Given the description of an element on the screen output the (x, y) to click on. 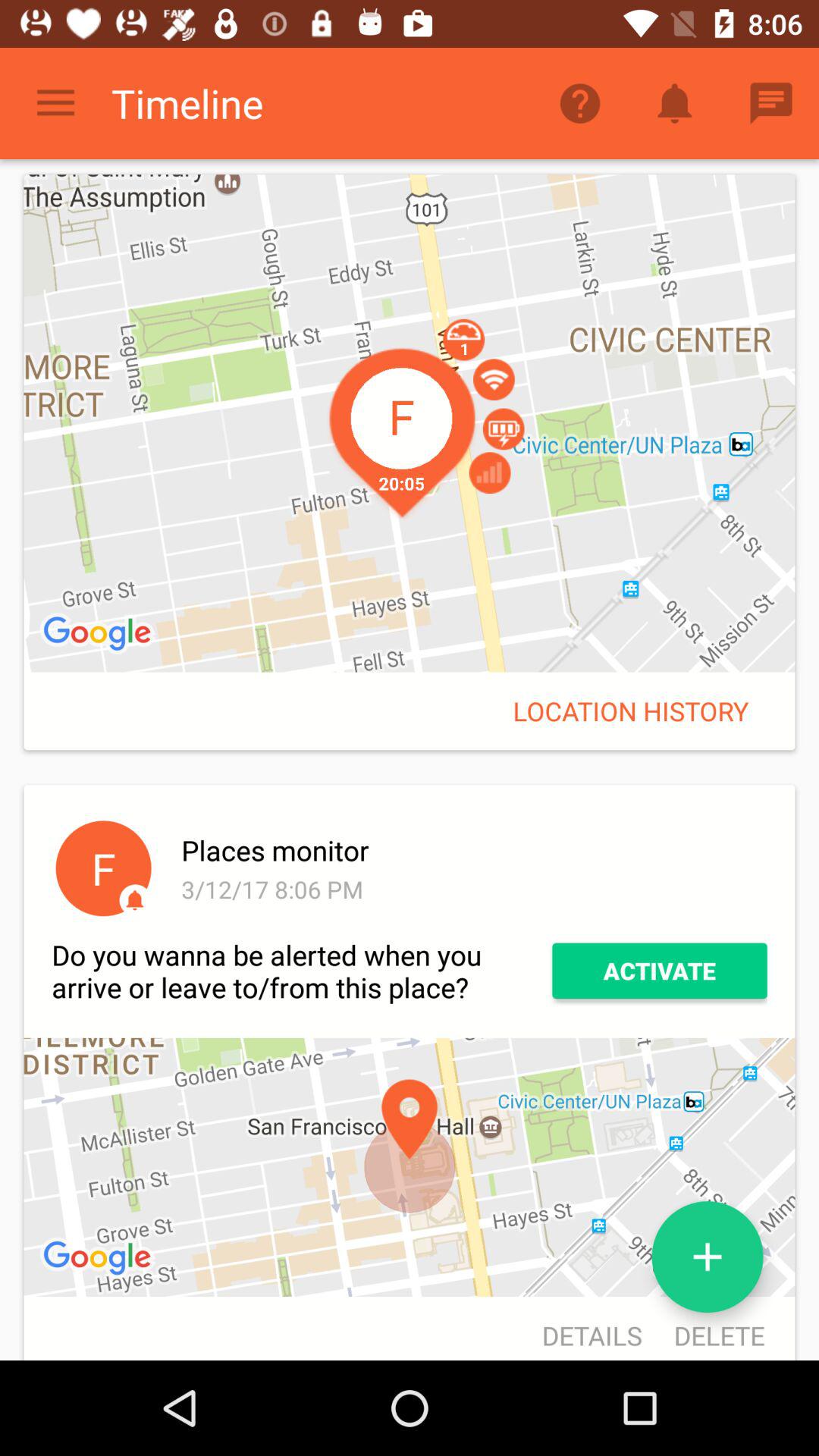
click the icon to the left of activate (301, 971)
